Given the description of an element on the screen output the (x, y) to click on. 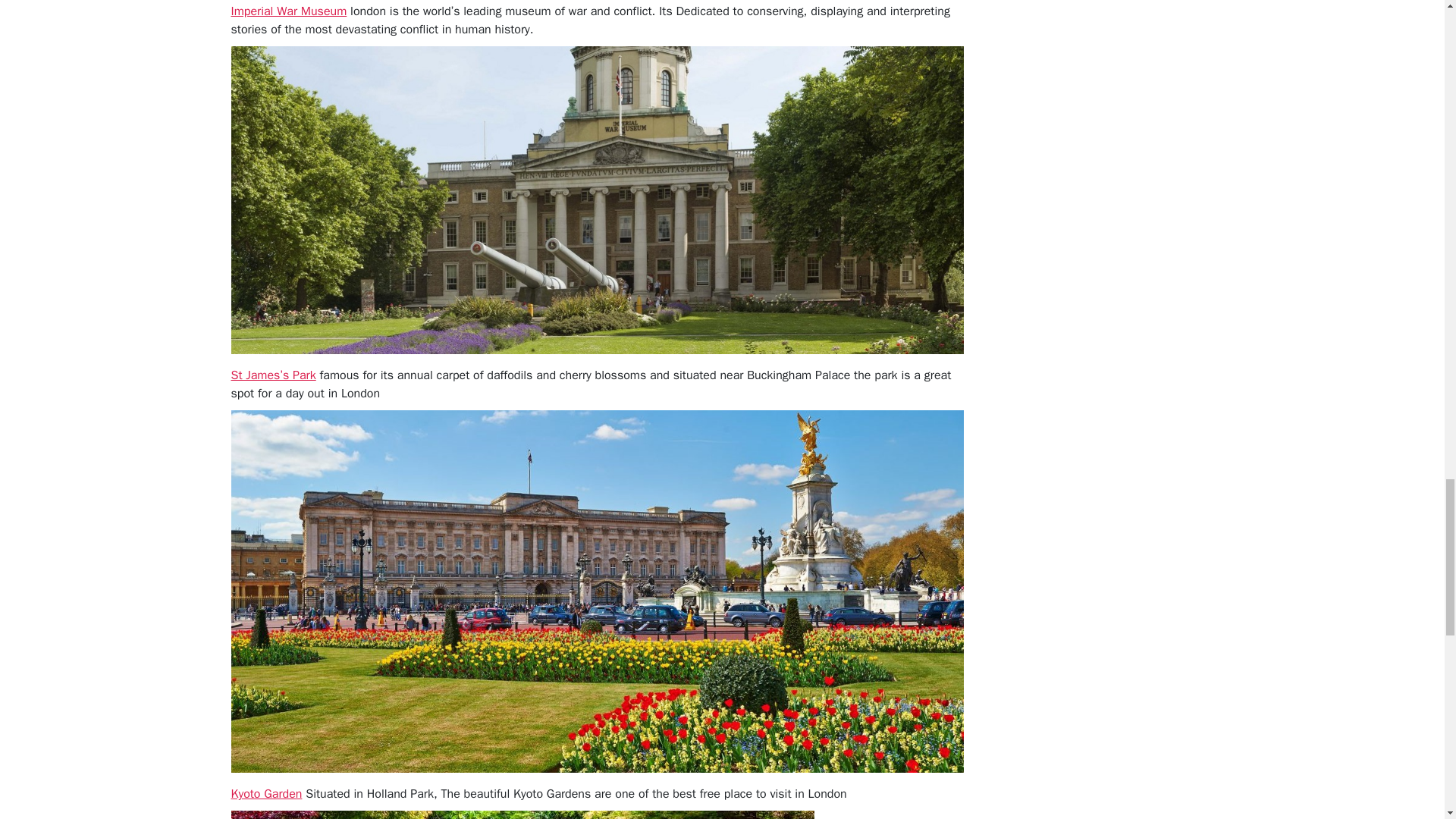
Kyoto Garden (265, 793)
Imperial War Museum (288, 11)
Kyoto Garden (265, 793)
Imperial War Museum (288, 11)
